Given the description of an element on the screen output the (x, y) to click on. 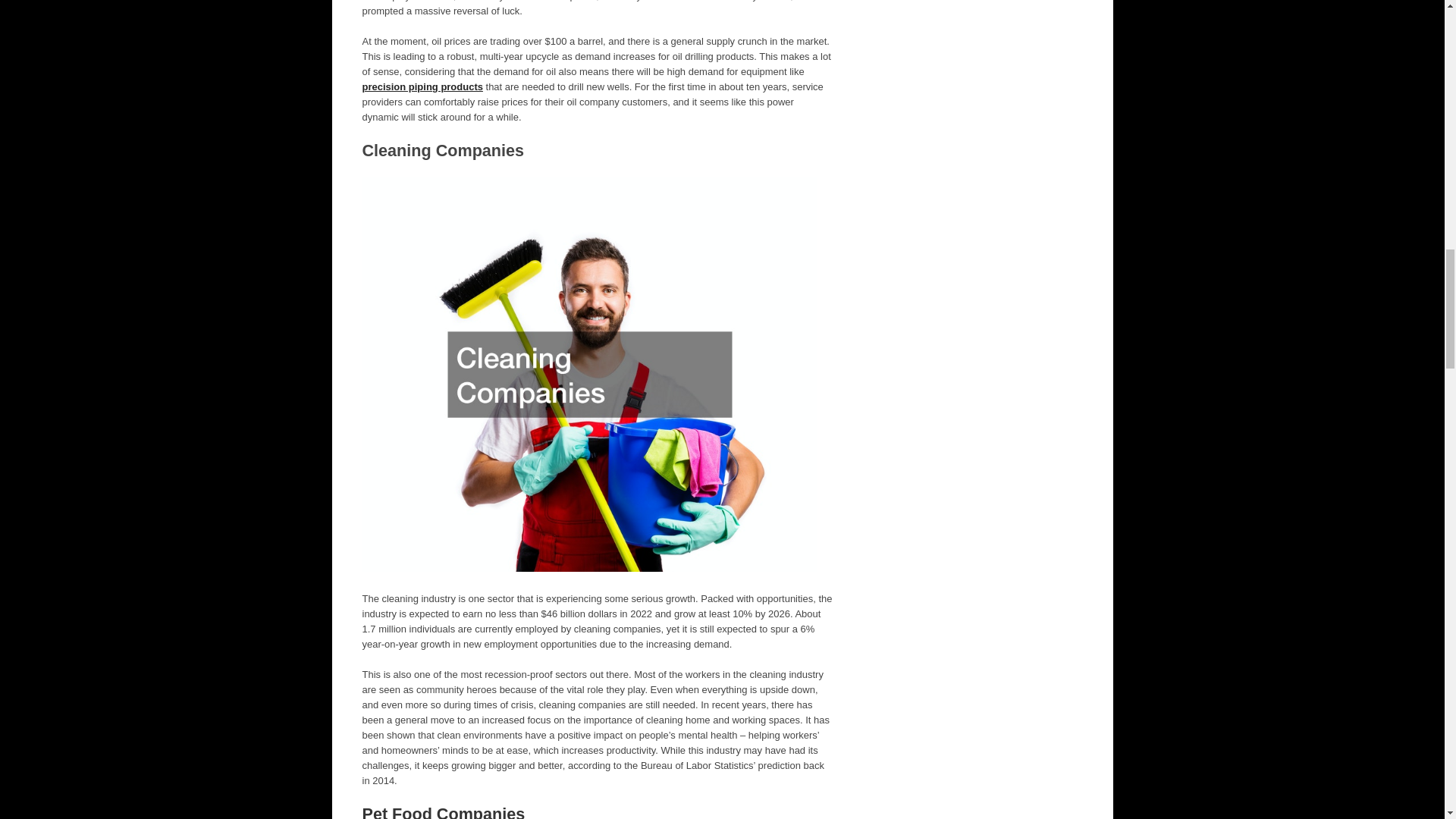
precision piping products (422, 86)
Cleaning Companies (443, 149)
